Given the description of an element on the screen output the (x, y) to click on. 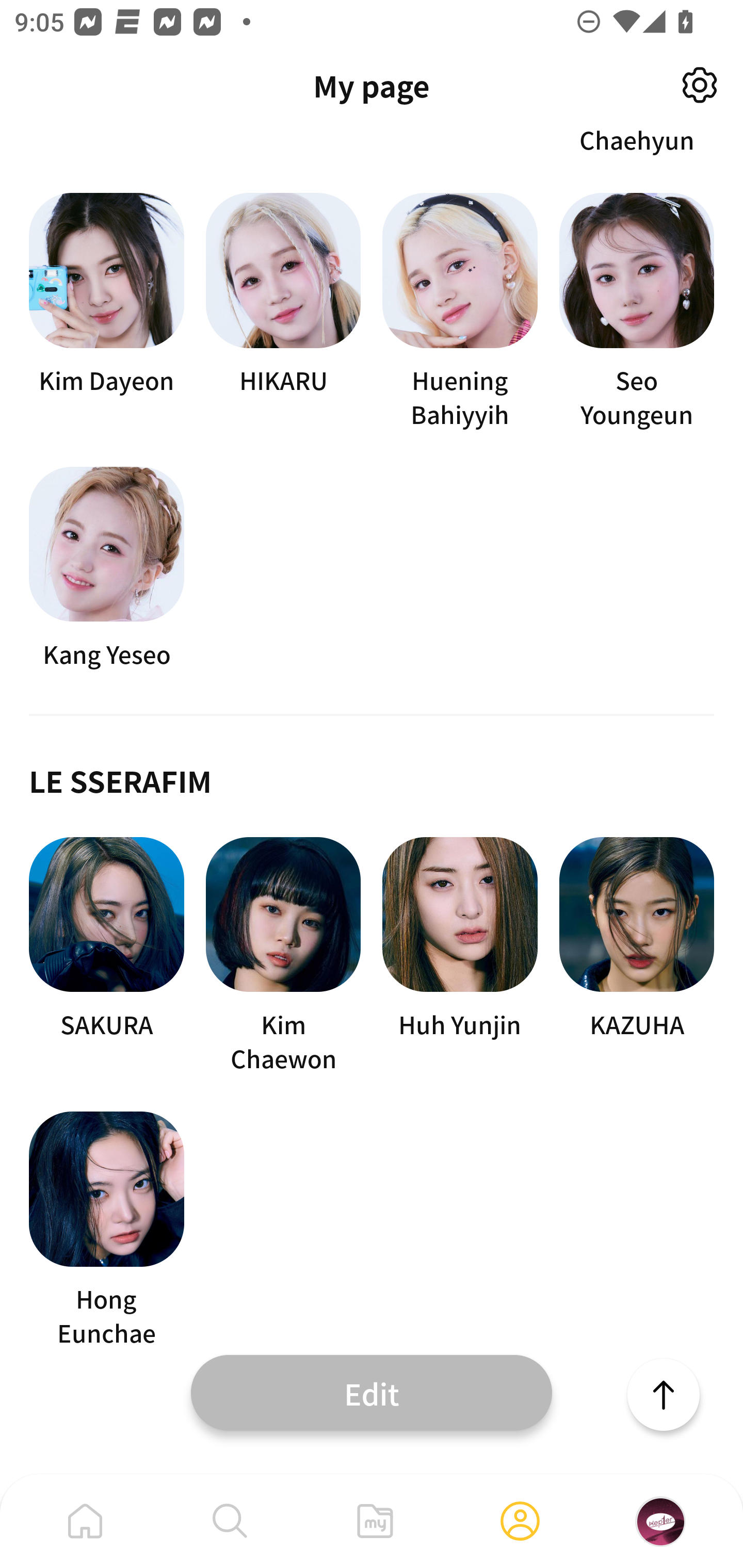
Kim Chaehyun (636, 141)
Kim Dayeon (106, 311)
HIKARU (282, 311)
Huening Bahiyyih (459, 311)
Seo Youngeun (636, 311)
Kang Yeseo (106, 569)
SAKURA (106, 956)
Kim Chaewon (282, 956)
Huh Yunjin (459, 956)
KAZUHA (636, 956)
Hong Eunchae (106, 1230)
Edit (371, 1392)
